Given the description of an element on the screen output the (x, y) to click on. 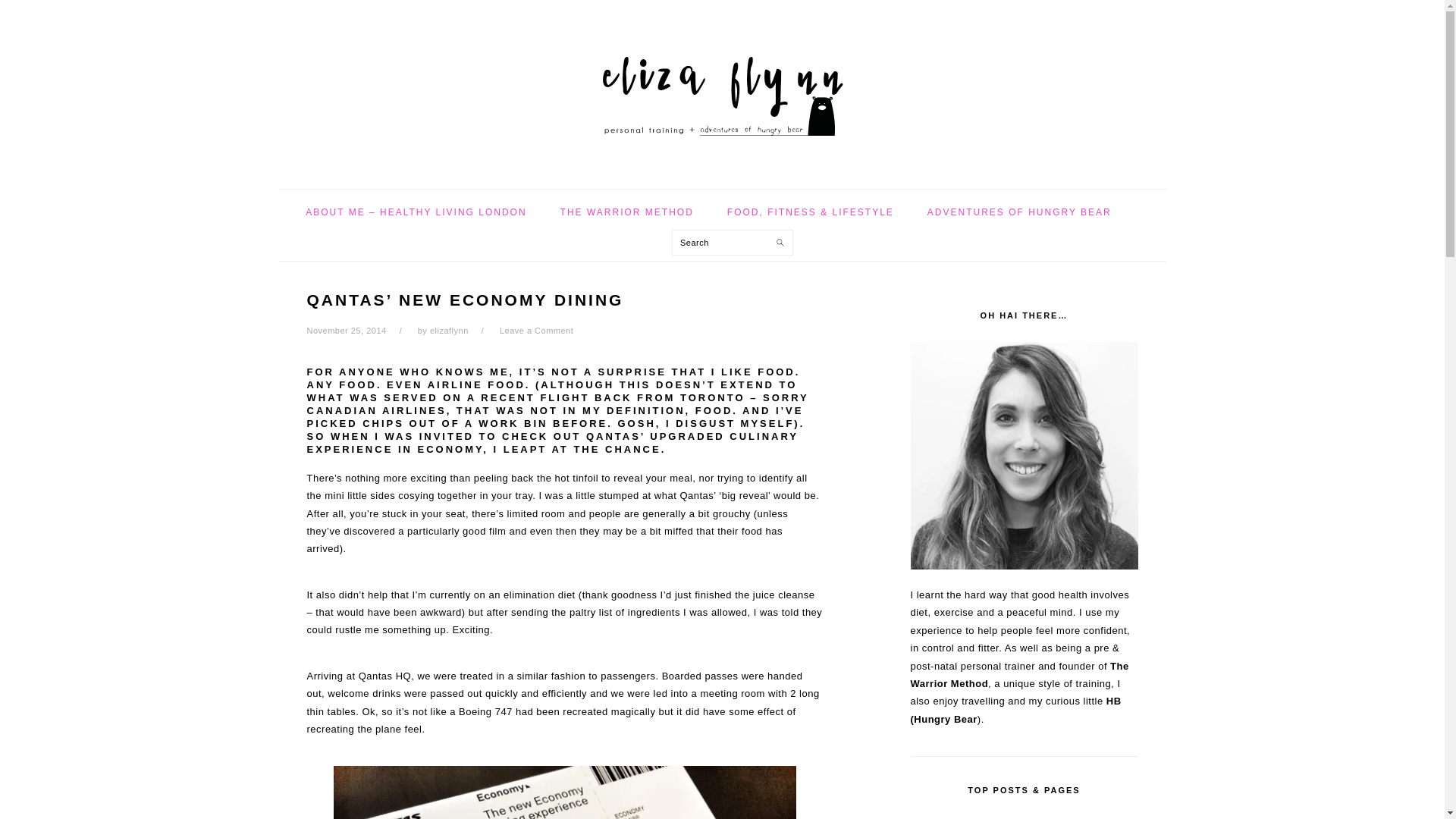
ADVENTURES OF HUNGRY BEAR (1018, 212)
elizaflynn (448, 329)
Leave a Comment (536, 329)
ELIZA FLYNN PERSONAL TRAINER (721, 89)
THE WARRIOR METHOD (627, 212)
The Warrior Method (1019, 674)
